Given the description of an element on the screen output the (x, y) to click on. 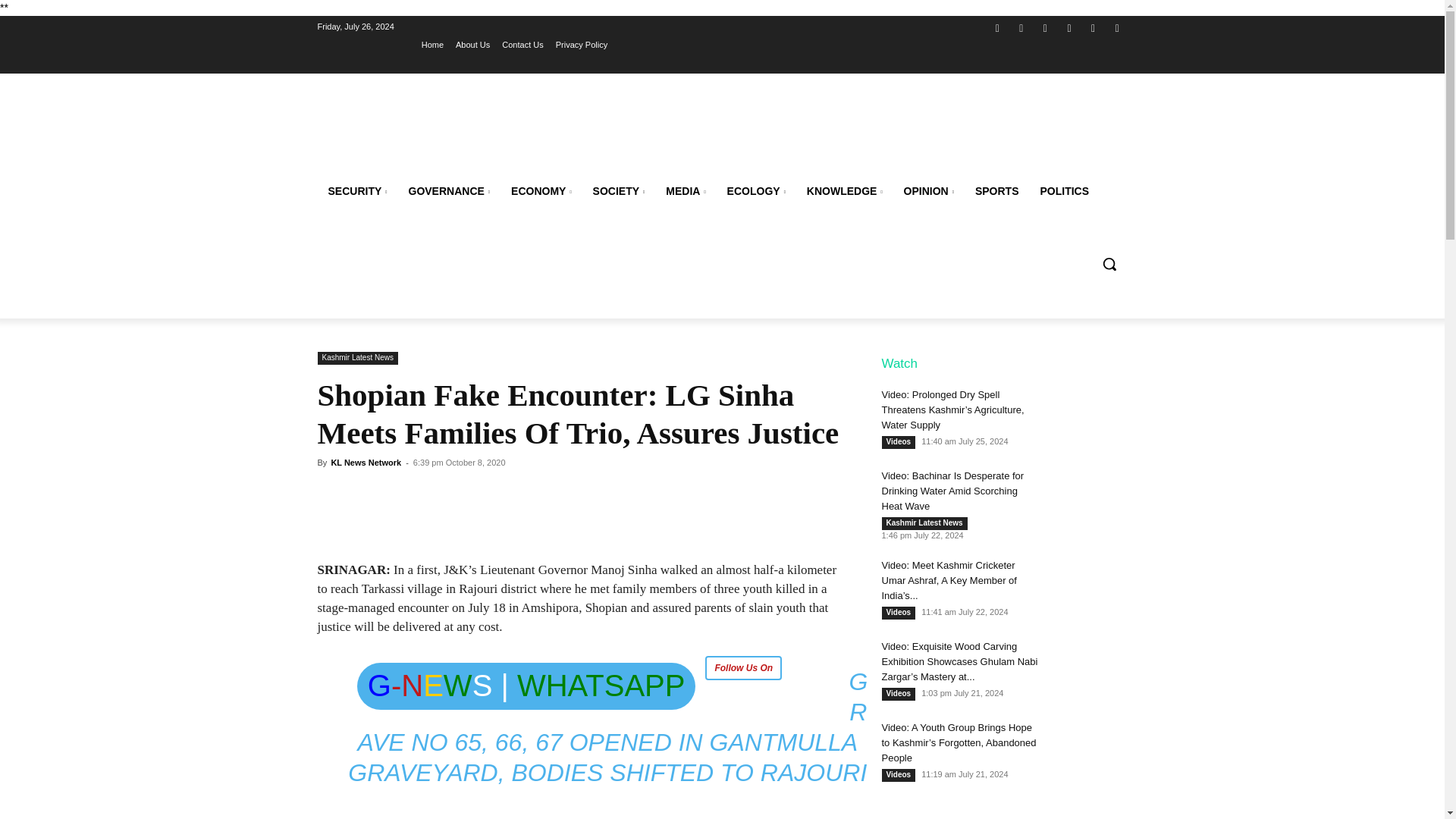
Youtube (1116, 28)
Facebook (997, 28)
Instagram (1021, 28)
WhatsApp (1093, 28)
Website (1069, 28)
Twitter (1045, 28)
